Given the description of an element on the screen output the (x, y) to click on. 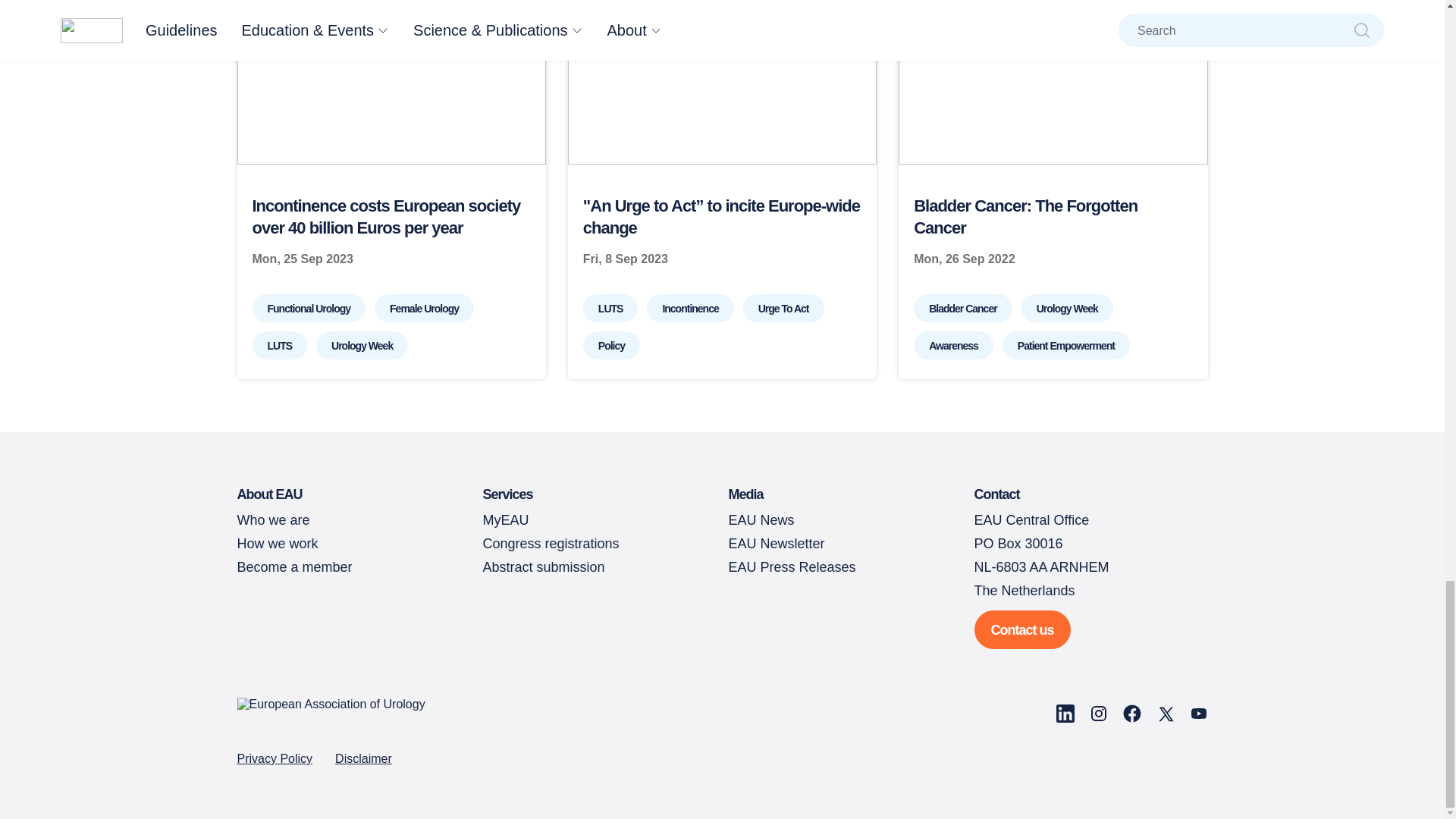
Who we are (271, 519)
Contact us (1022, 629)
EAU Newsletter (776, 543)
MyEAU (504, 519)
Congress registrations (549, 543)
EAU News (760, 519)
Become a member (293, 566)
How we work (276, 543)
EAU Press Releases (792, 566)
Abstract submission (542, 566)
